Given the description of an element on the screen output the (x, y) to click on. 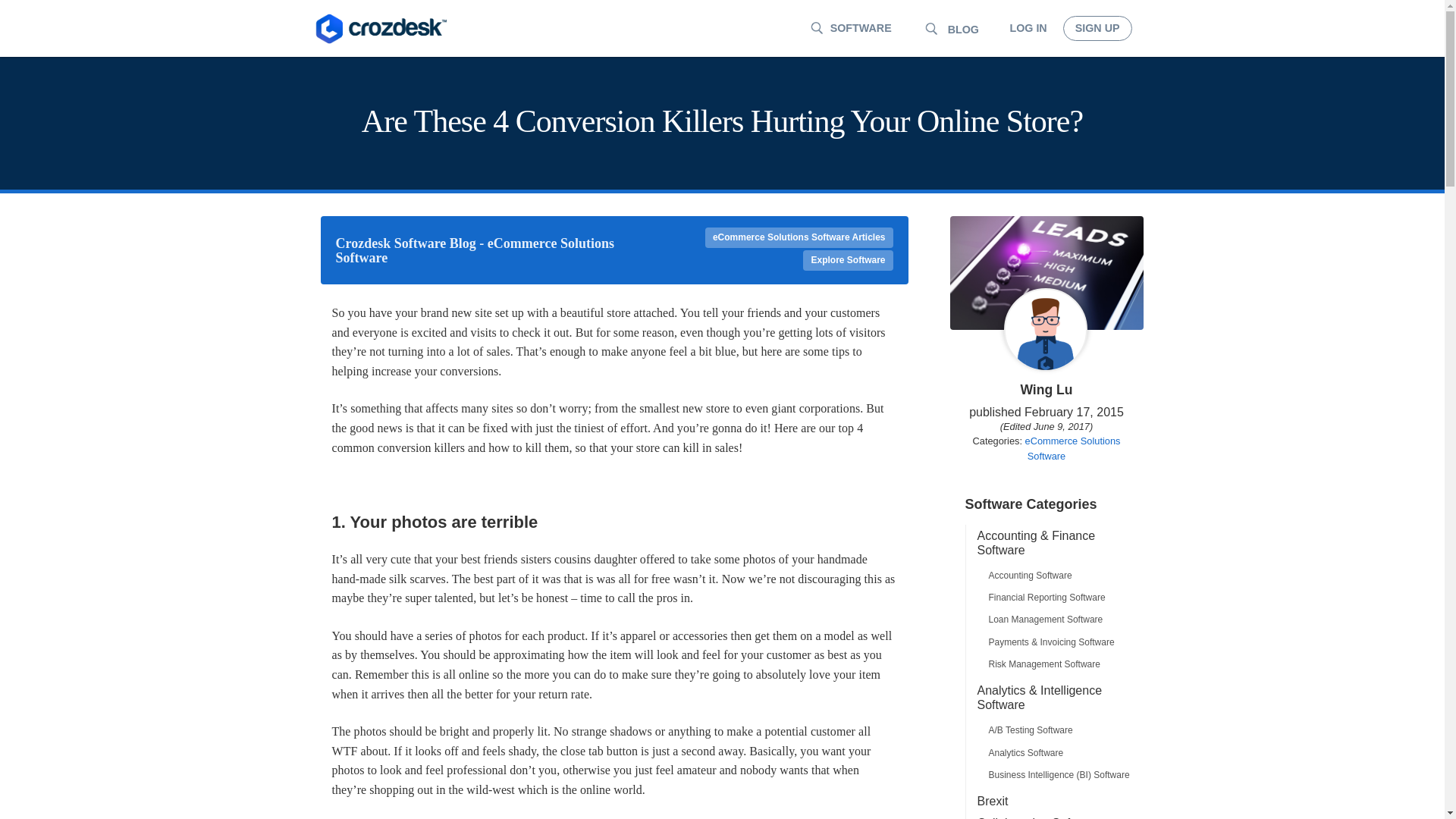
Risk Management Software (1052, 666)
Explore Software (847, 260)
Brexit (1052, 801)
Analytics Software (1052, 753)
eCommerce Solutions Software (1073, 447)
SOFTWARE (848, 28)
Search (21, 8)
SIGN UP (1097, 27)
